Given the description of an element on the screen output the (x, y) to click on. 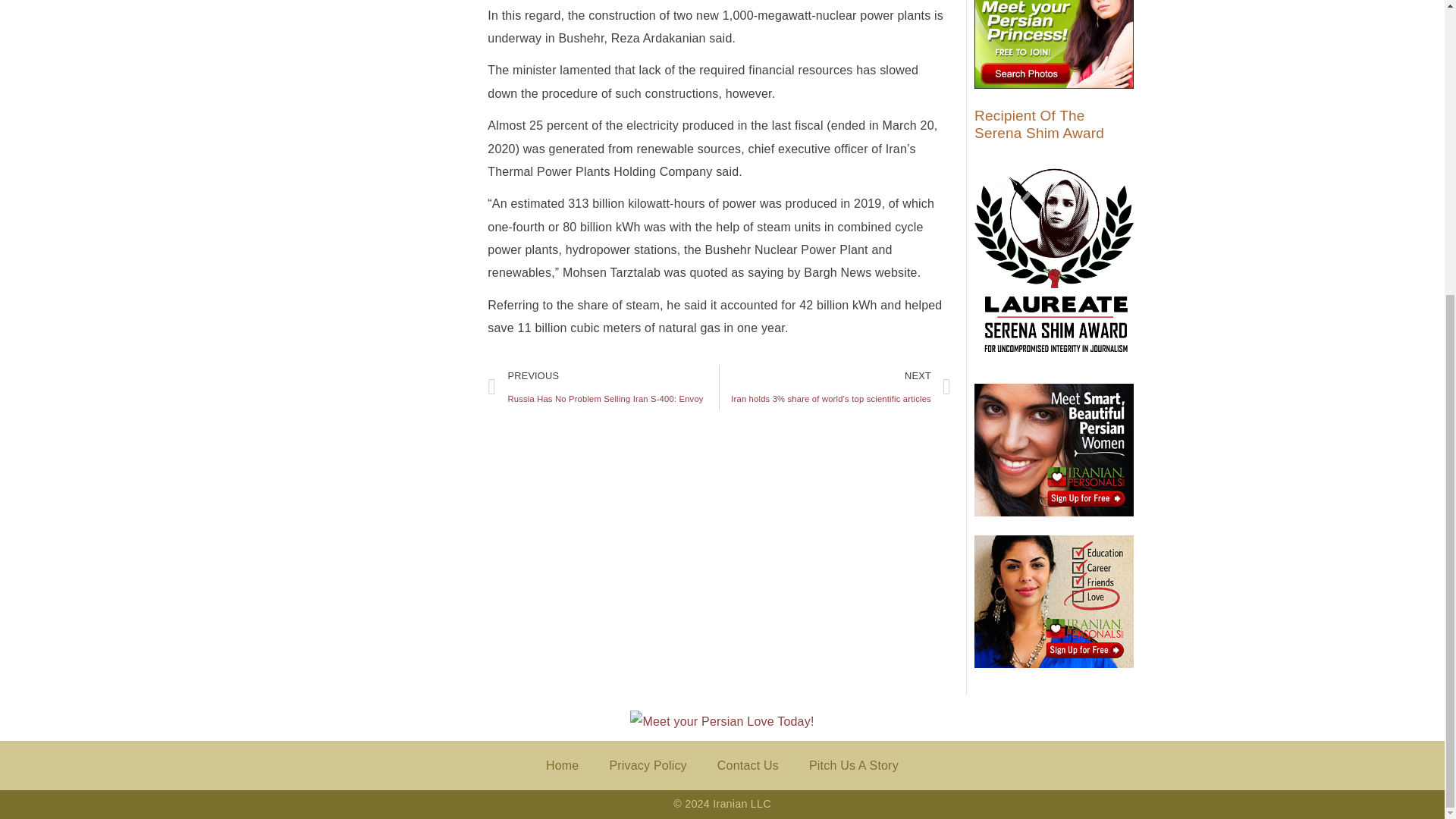
Home (603, 387)
Pitch Us A Story (562, 765)
Privacy Policy (853, 765)
Contact Us (647, 765)
